Given the description of an element on the screen output the (x, y) to click on. 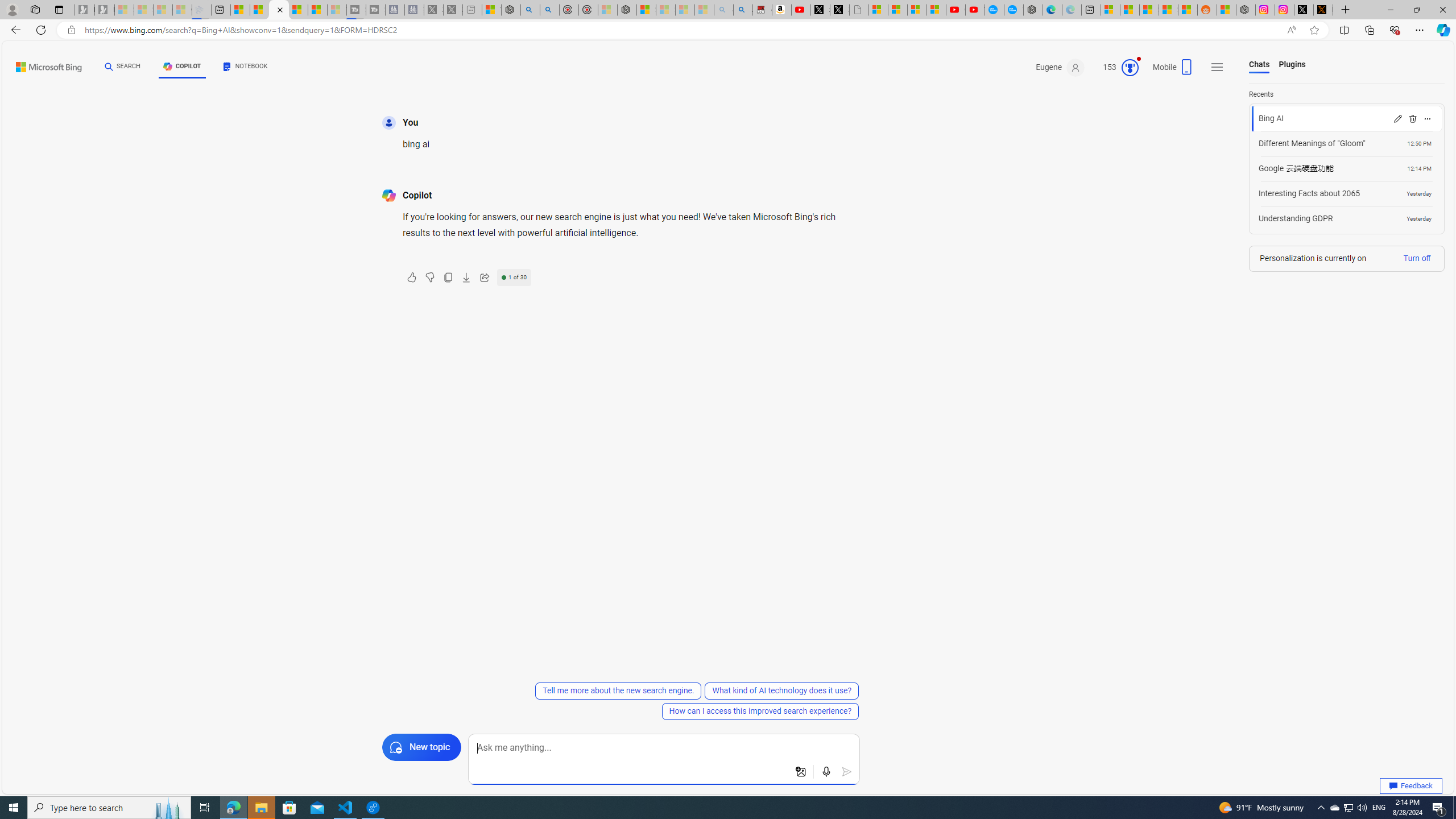
Settings and quick links (1217, 67)
SEARCH (122, 66)
Copilot with GPT-4 (279, 9)
Rename (1397, 118)
Add an image to search (800, 771)
Chats (1259, 65)
Eugene (1059, 67)
Microsoft Rewards 153 (1116, 67)
